Given the description of an element on the screen output the (x, y) to click on. 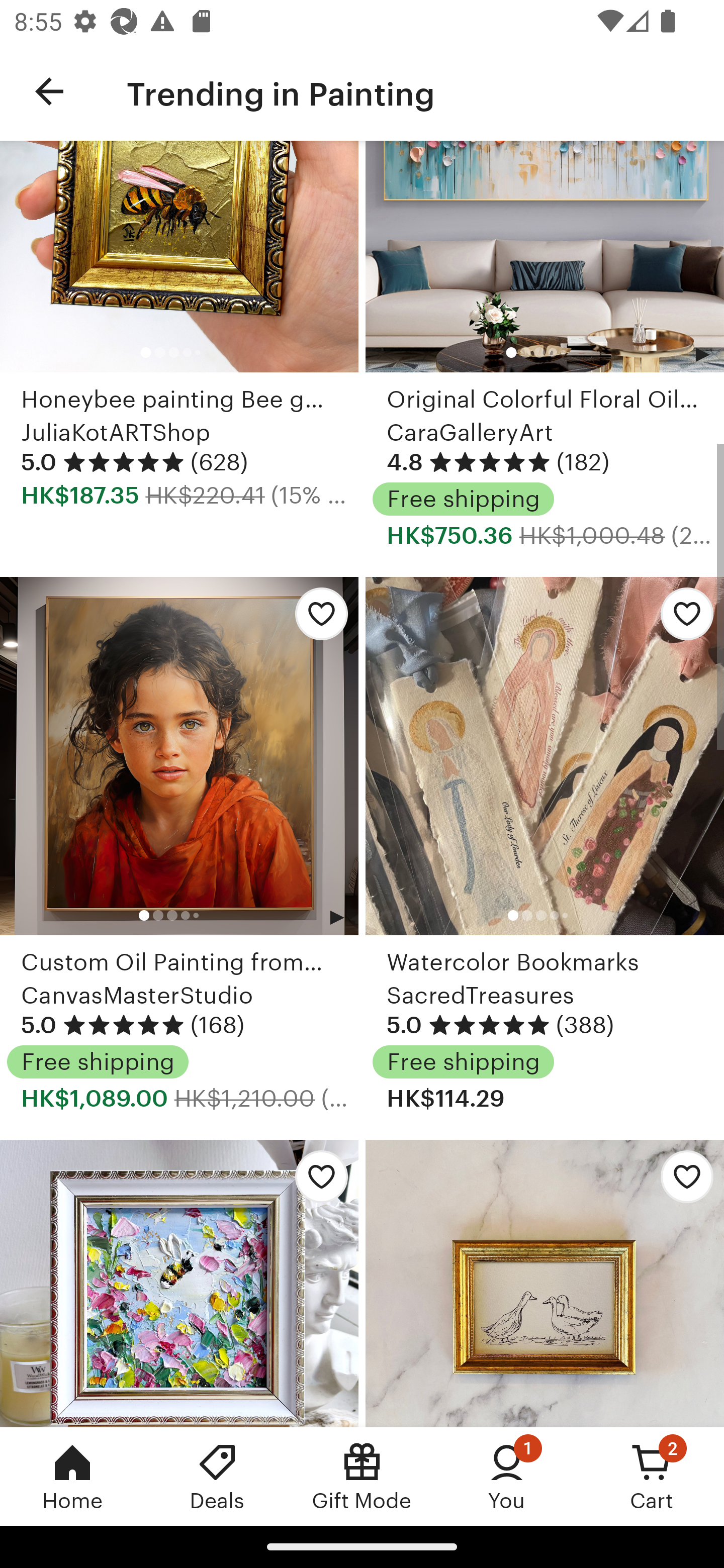
Navigate up (49, 91)
Add Watercolor Bookmarks to favorites (681, 619)
Deals (216, 1475)
Gift Mode (361, 1475)
You, 1 new notification You (506, 1475)
Cart, 2 new notifications Cart (651, 1475)
